Given the description of an element on the screen output the (x, y) to click on. 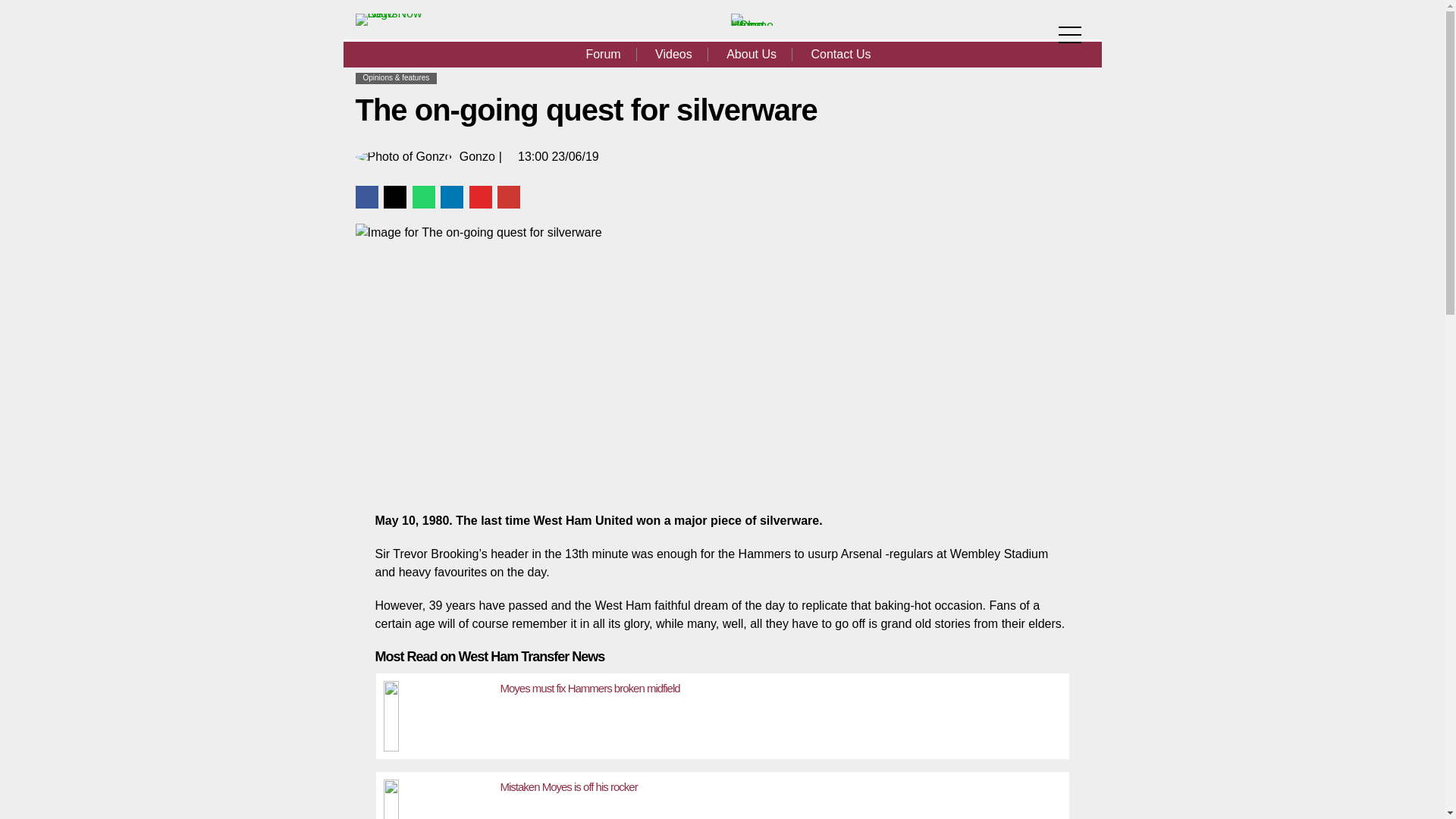
Moyes must fix Hammers broken midfield (589, 687)
share on Facebook (366, 196)
share on Twitter (395, 196)
Moyes must fix Hammers broken midfield (437, 712)
share on Email (508, 196)
About Us (751, 54)
share on LinkedIn (452, 196)
Gonzo (477, 155)
Back to the homepage (751, 24)
Mistaken Moyes is off his rocker (437, 795)
